Given the description of an element on the screen output the (x, y) to click on. 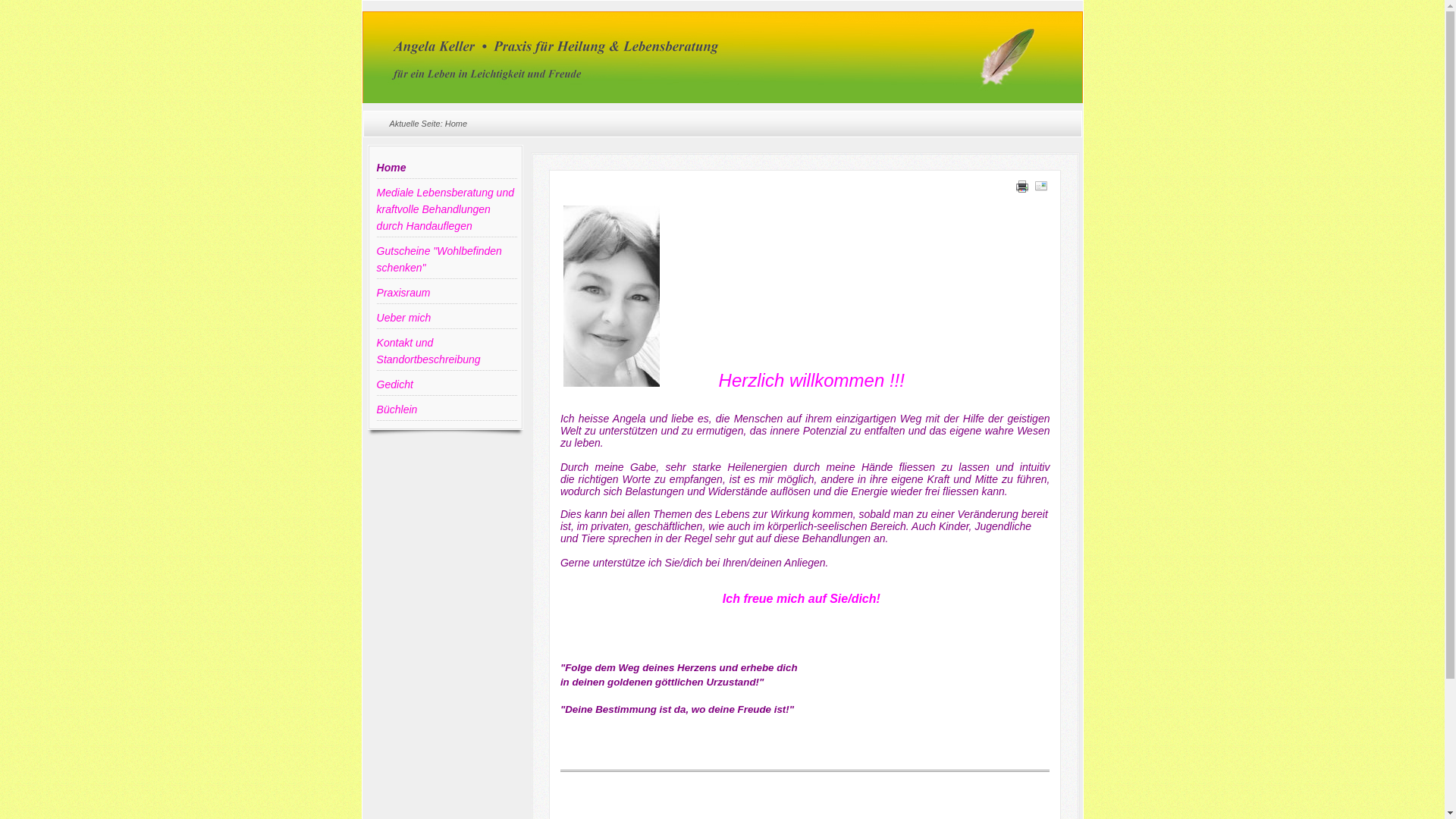
Gutscheine "Wohlbefinden schenken" Element type: text (446, 259)
Praxisraum Element type: text (446, 293)
Ueber mich Element type: text (446, 318)
Drucken Element type: hover (1022, 188)
Home Element type: text (446, 167)
Gedicht Element type: text (446, 384)
Kontakt und Standortbeschreibung Element type: text (446, 351)
E-Mail Element type: hover (1041, 188)
